Given the description of an element on the screen output the (x, y) to click on. 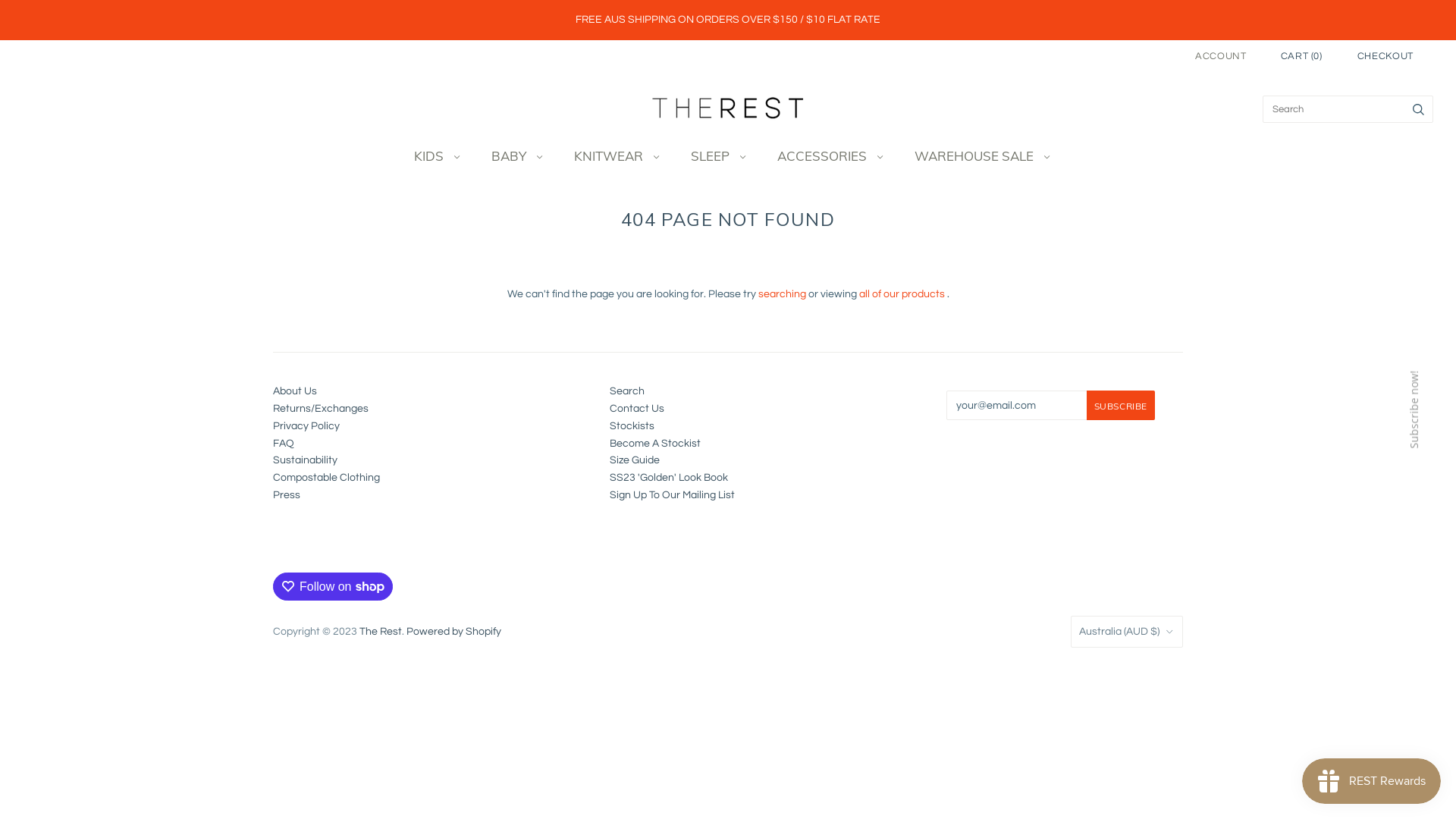
Contact Us Element type: text (636, 408)
ACCOUNT Element type: text (1220, 55)
CHECKOUT Element type: text (1385, 56)
Powered by Shopify Element type: text (453, 631)
Smile.io Rewards Program Launcher Element type: hover (1371, 780)
Returns/Exchanges Element type: text (320, 408)
FAQ Element type: text (283, 443)
Home Element type: text (714, 246)
Subscribe Element type: text (1120, 405)
Sign Up To Our Mailing List Element type: text (671, 494)
SS23 'Golden' Look Book Element type: text (668, 477)
Become A Stockist Element type: text (654, 443)
Australia (AUD $) Element type: text (1126, 631)
all of our products Element type: text (901, 293)
Size Guide Element type: text (634, 460)
About Us Element type: text (294, 390)
Compostable Clothing Element type: text (326, 477)
Sustainability Element type: text (305, 460)
Search Element type: text (626, 390)
Press Element type: text (286, 494)
Stockists Element type: text (631, 425)
Privacy Policy Element type: text (306, 425)
CART (0) Element type: text (1301, 56)
The Rest Element type: text (380, 631)
searching Element type: text (782, 293)
